Given the description of an element on the screen output the (x, y) to click on. 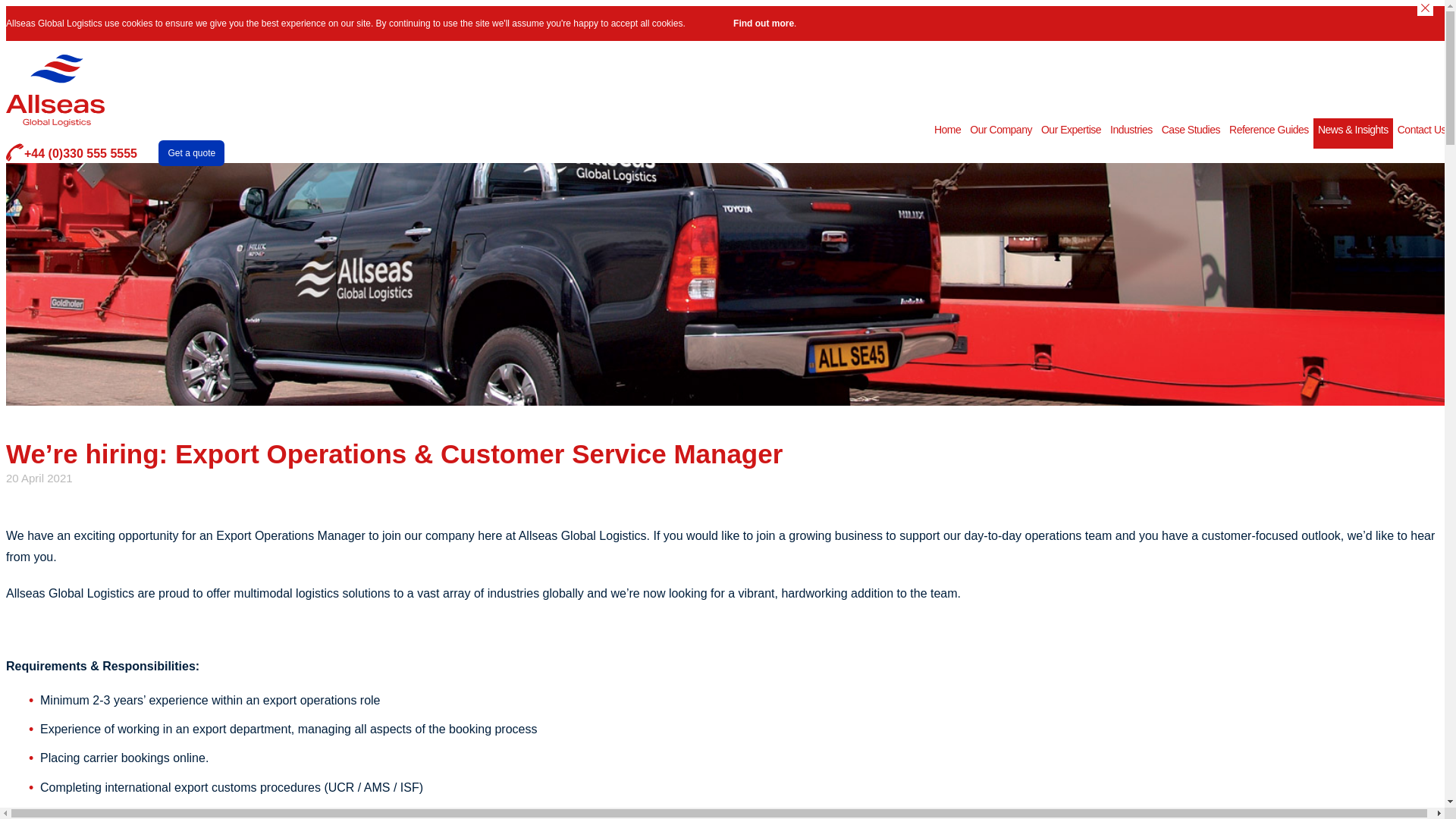
Case Studies (1190, 132)
Our Company (1000, 132)
Home (947, 132)
Industries (1131, 132)
Get a quote (191, 153)
Find out more (763, 23)
Our Expertise (1070, 132)
